Given the description of an element on the screen output the (x, y) to click on. 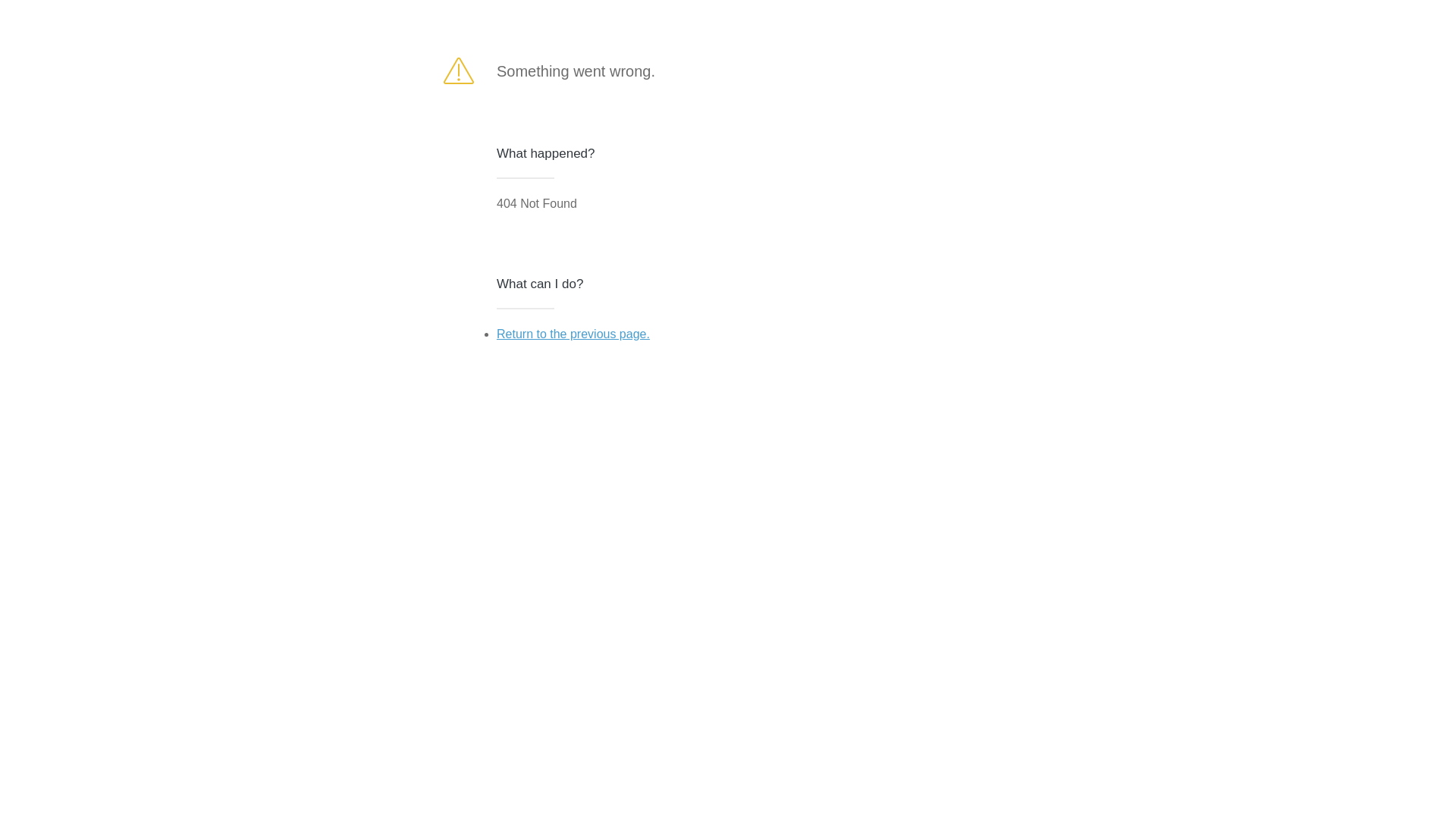
Return to the previous page. Element type: text (572, 333)
